Given the description of an element on the screen output the (x, y) to click on. 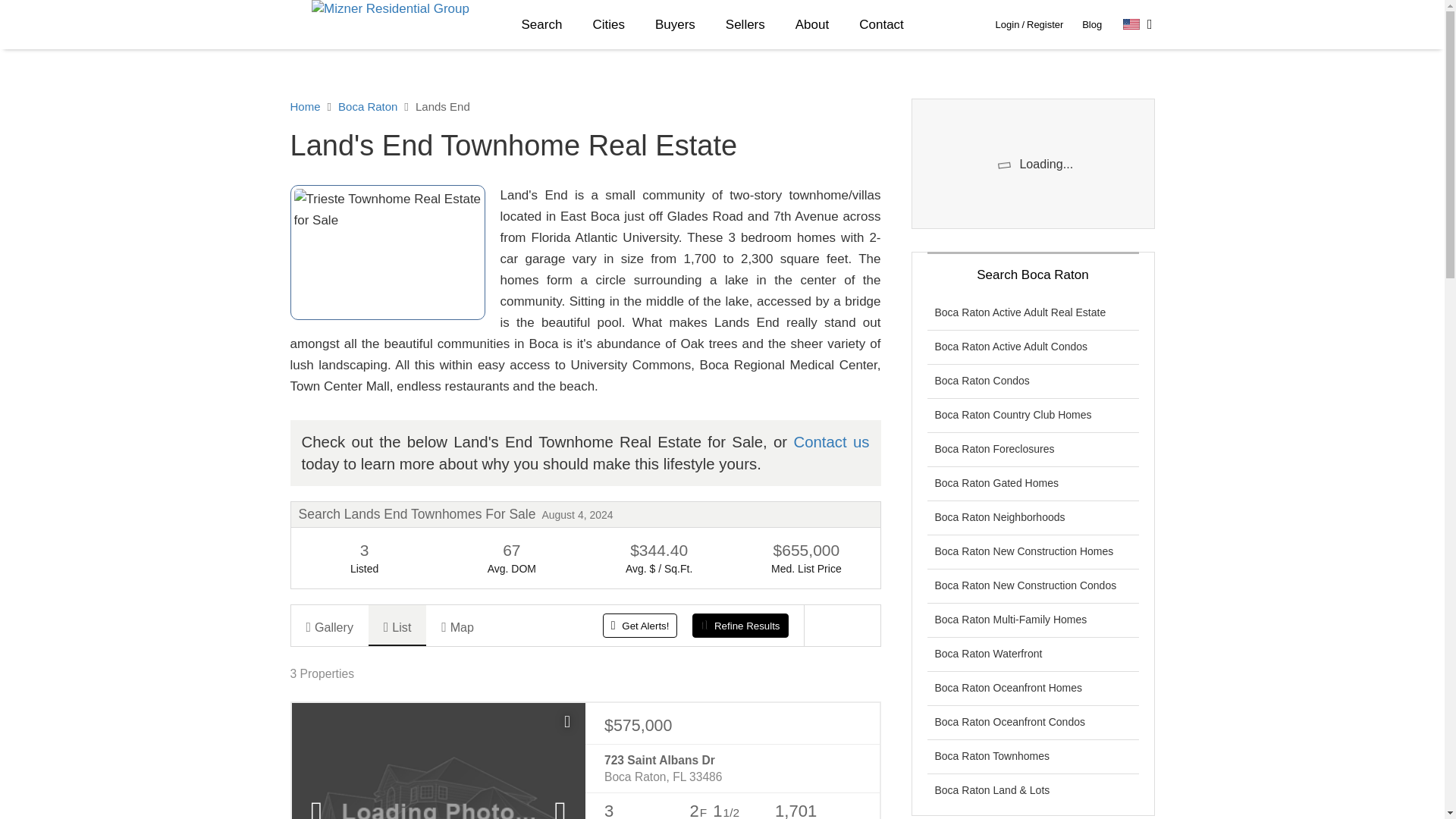
Select Language (1137, 24)
Trieste Townhome Real Estate (386, 252)
Cities (608, 24)
Search (542, 24)
723 Saint Albans Dr Boca Raton,  FL 33486 (732, 769)
